Given the description of an element on the screen output the (x, y) to click on. 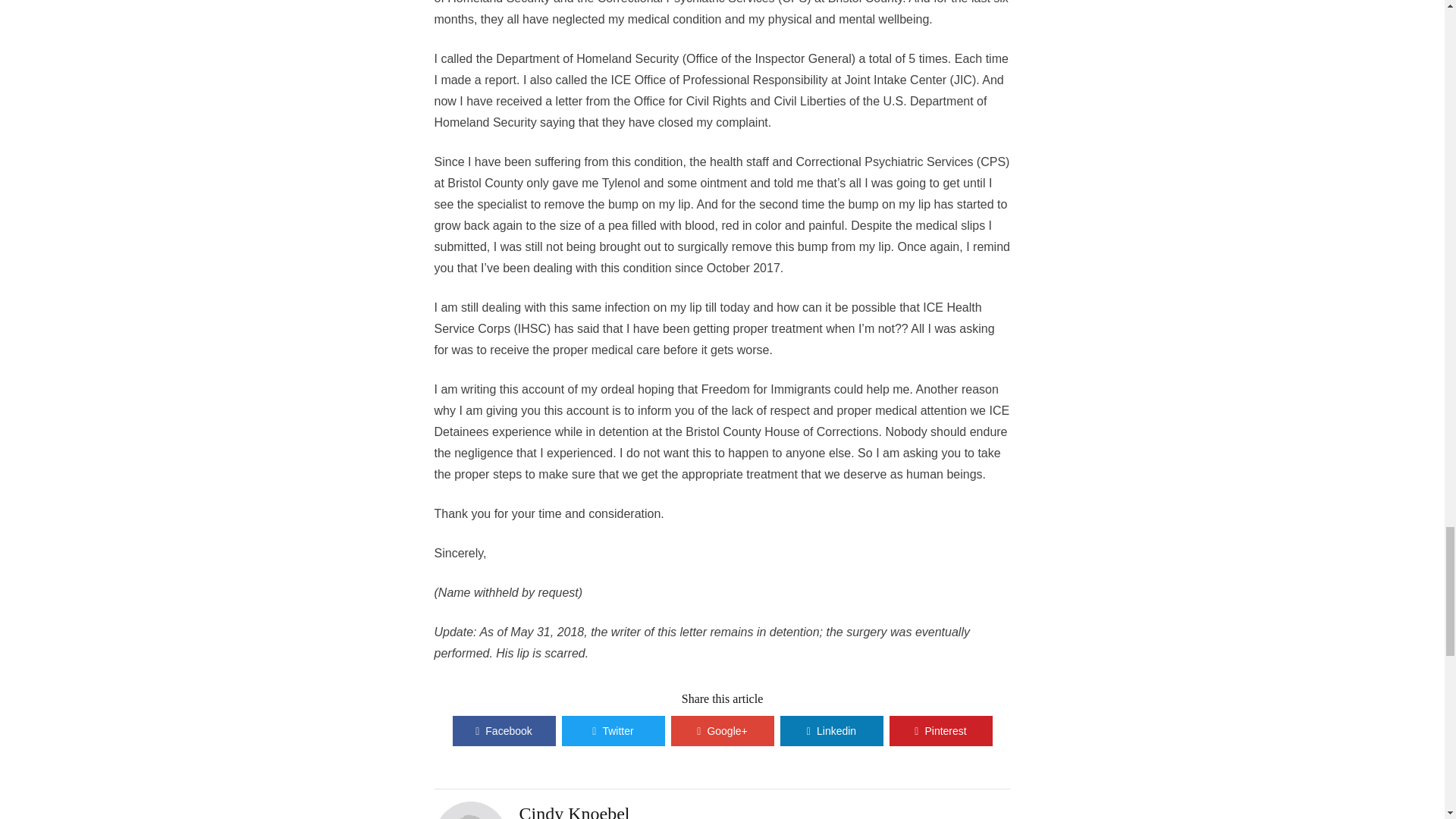
Share on Linkedin (830, 730)
Twitter (611, 730)
Share on Facebook (502, 730)
Share on Pinterest (939, 730)
Share on Twitter (611, 730)
Facebook (502, 730)
Pinterest (939, 730)
Linkedin (830, 730)
Cindy Knoebel (573, 811)
